Given the description of an element on the screen output the (x, y) to click on. 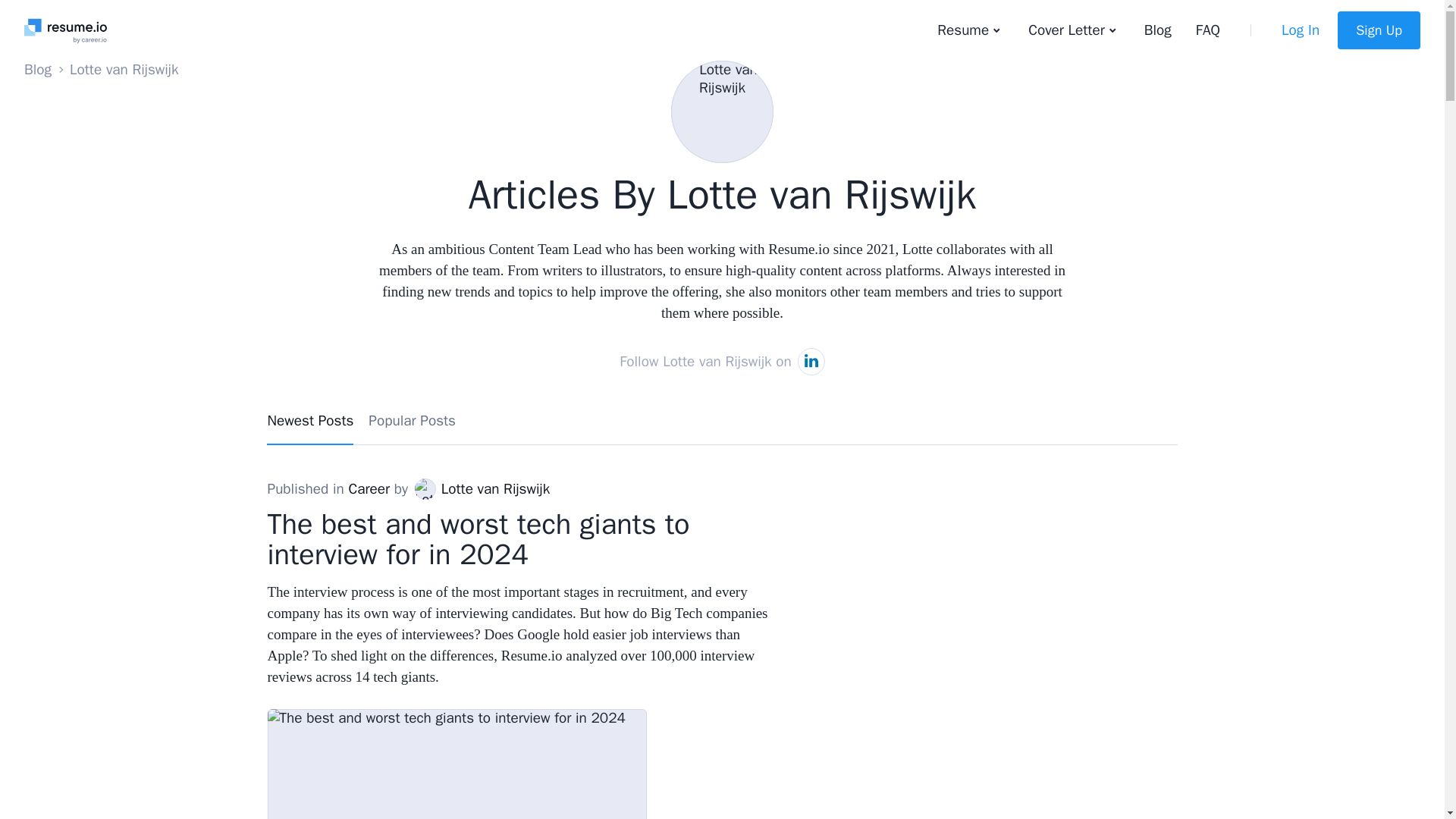
Blog (1157, 30)
Blog (37, 69)
Sign Up (1379, 30)
Cover Letter (1074, 30)
Lotte van Rijswijk (424, 488)
Lotte van Rijswijk (722, 111)
Resume (970, 30)
FAQ (1207, 30)
Log In (1300, 30)
The best and worst tech giants to interview for in 2024 (456, 764)
